Given the description of an element on the screen output the (x, y) to click on. 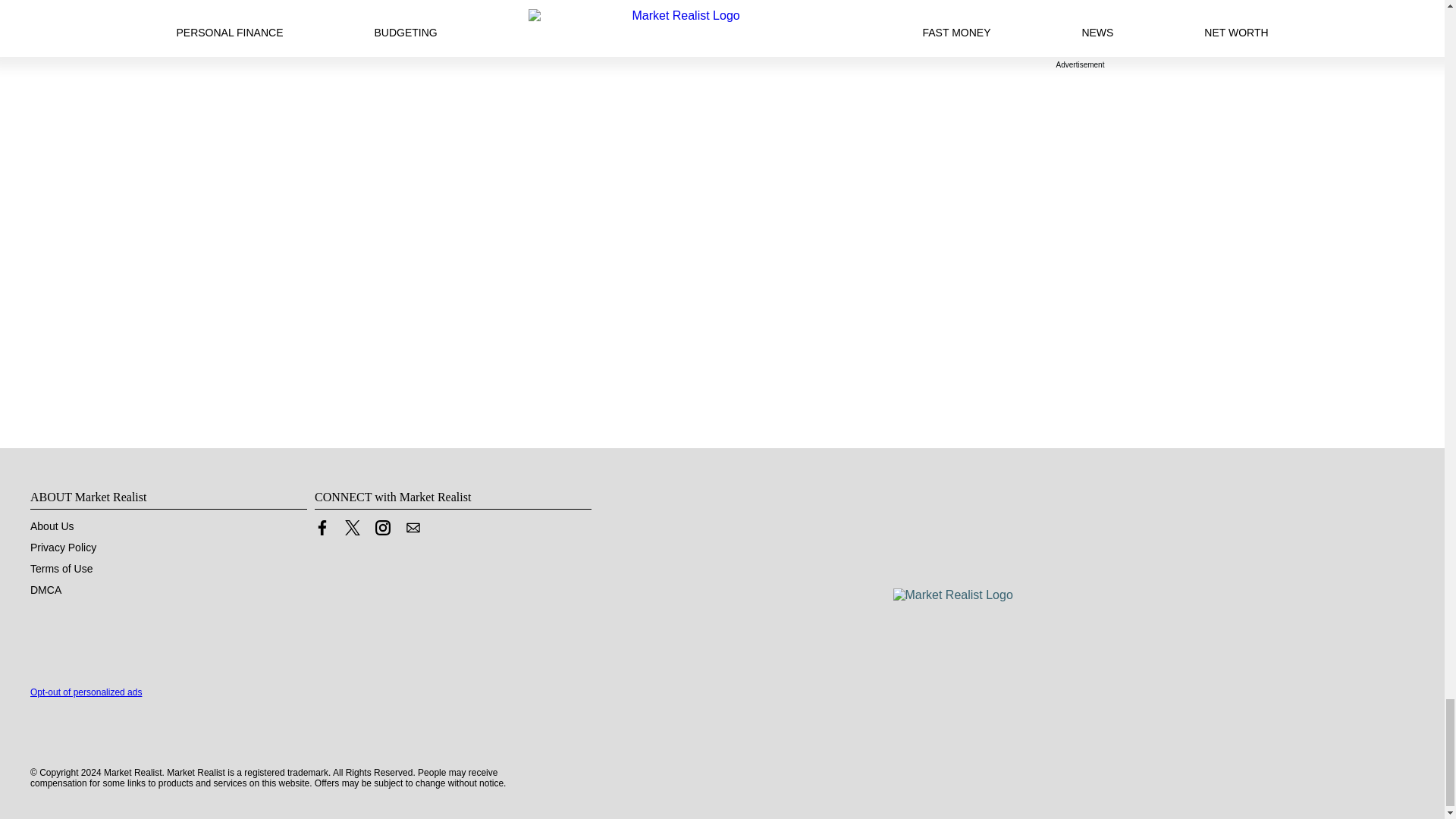
Contact us by Email (413, 531)
Link to Instagram (382, 531)
DMCA (45, 589)
About Us (52, 526)
Link to Facebook (322, 531)
DMCA (45, 589)
Terms of Use (61, 568)
Privacy Policy (63, 547)
Privacy Policy (63, 547)
About Us (52, 526)
Link to Facebook (322, 527)
Terms of Use (61, 568)
Link to X (352, 531)
Link to Instagram (382, 527)
Link to X (352, 527)
